Given the description of an element on the screen output the (x, y) to click on. 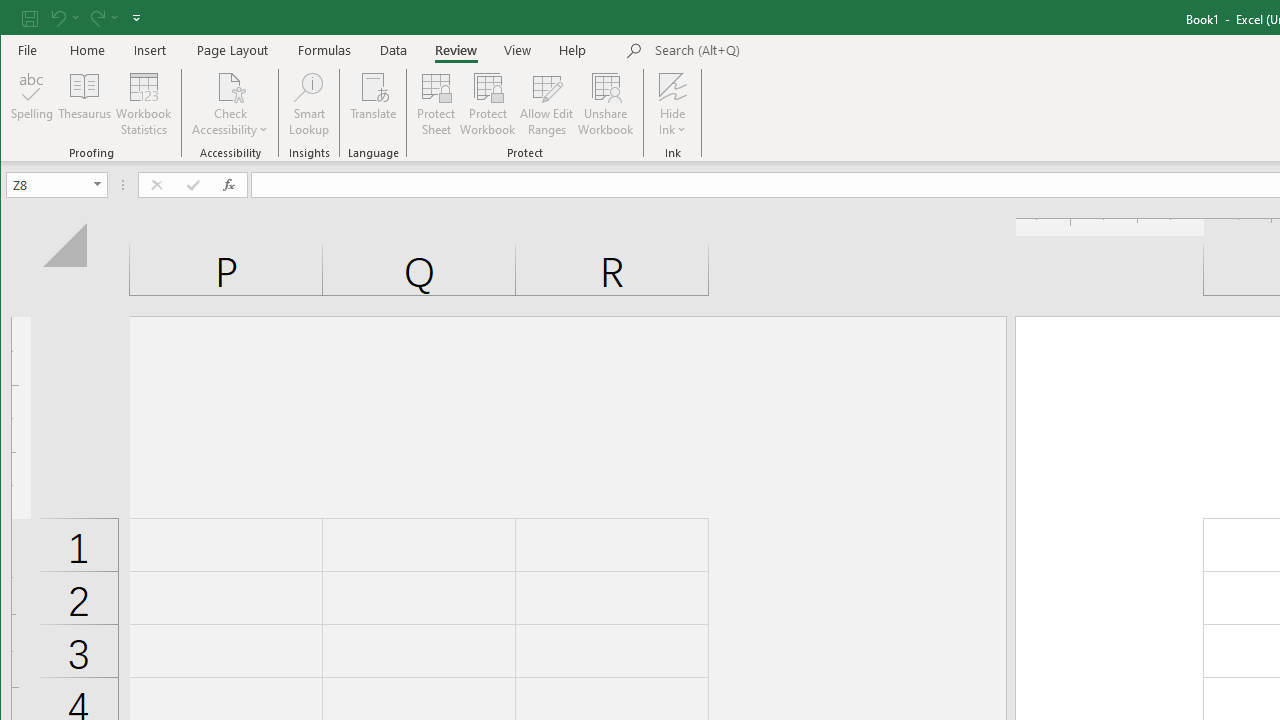
Spelling... (32, 104)
Protect Workbook... (488, 104)
